Given the description of an element on the screen output the (x, y) to click on. 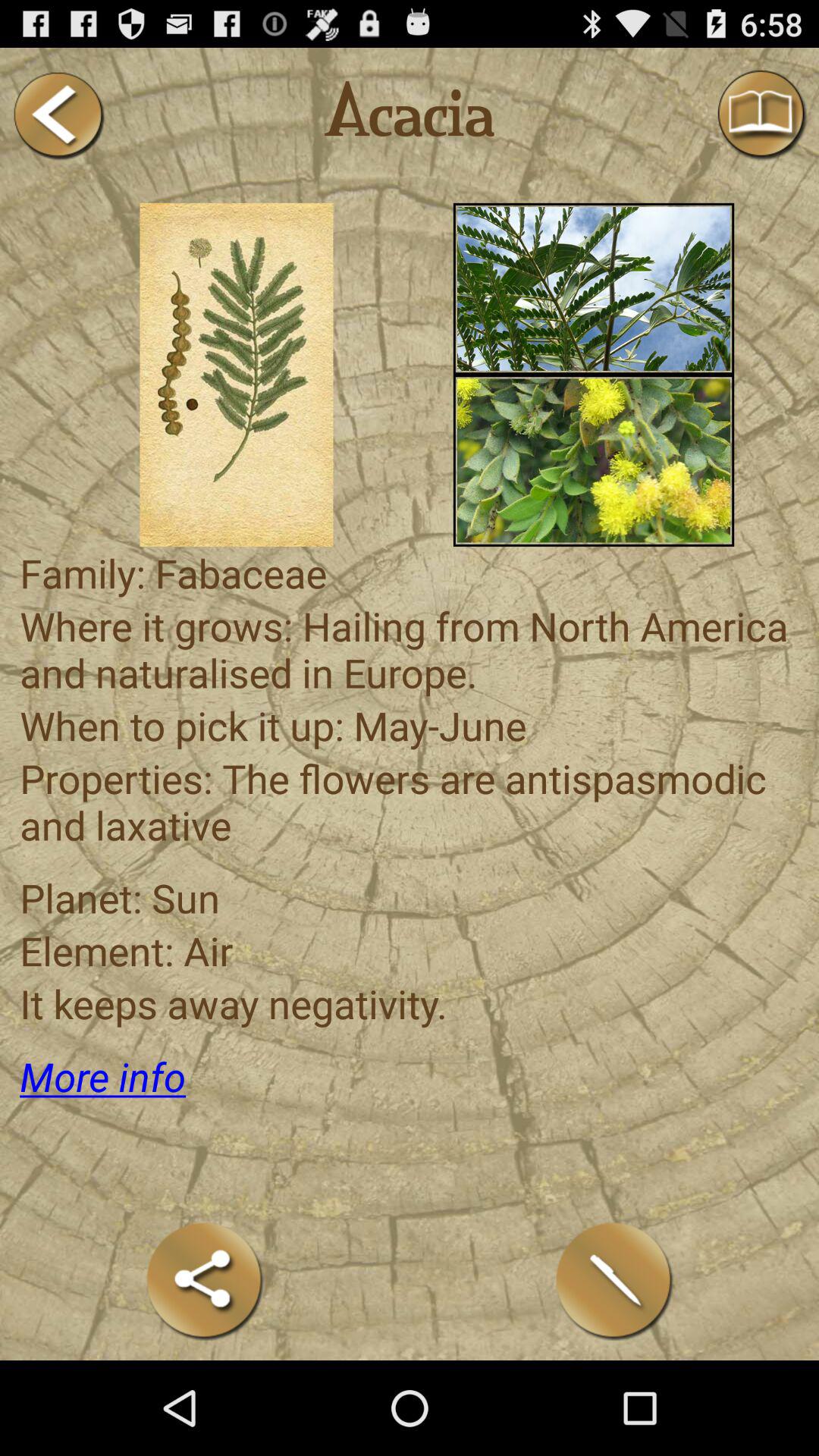
view image (593, 288)
